Given the description of an element on the screen output the (x, y) to click on. 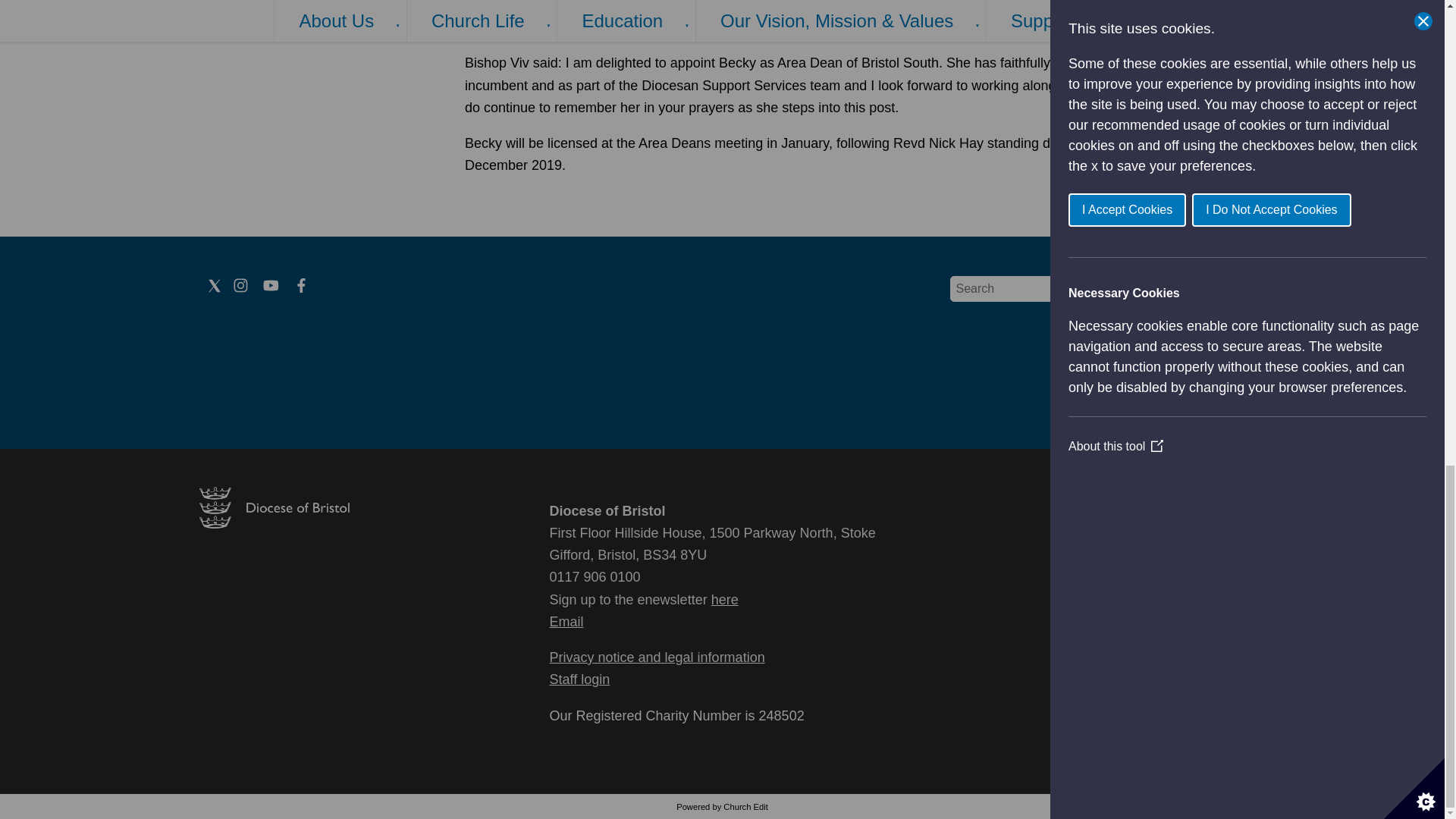
Diocese of Bristol Logo (273, 522)
